Given the description of an element on the screen output the (x, y) to click on. 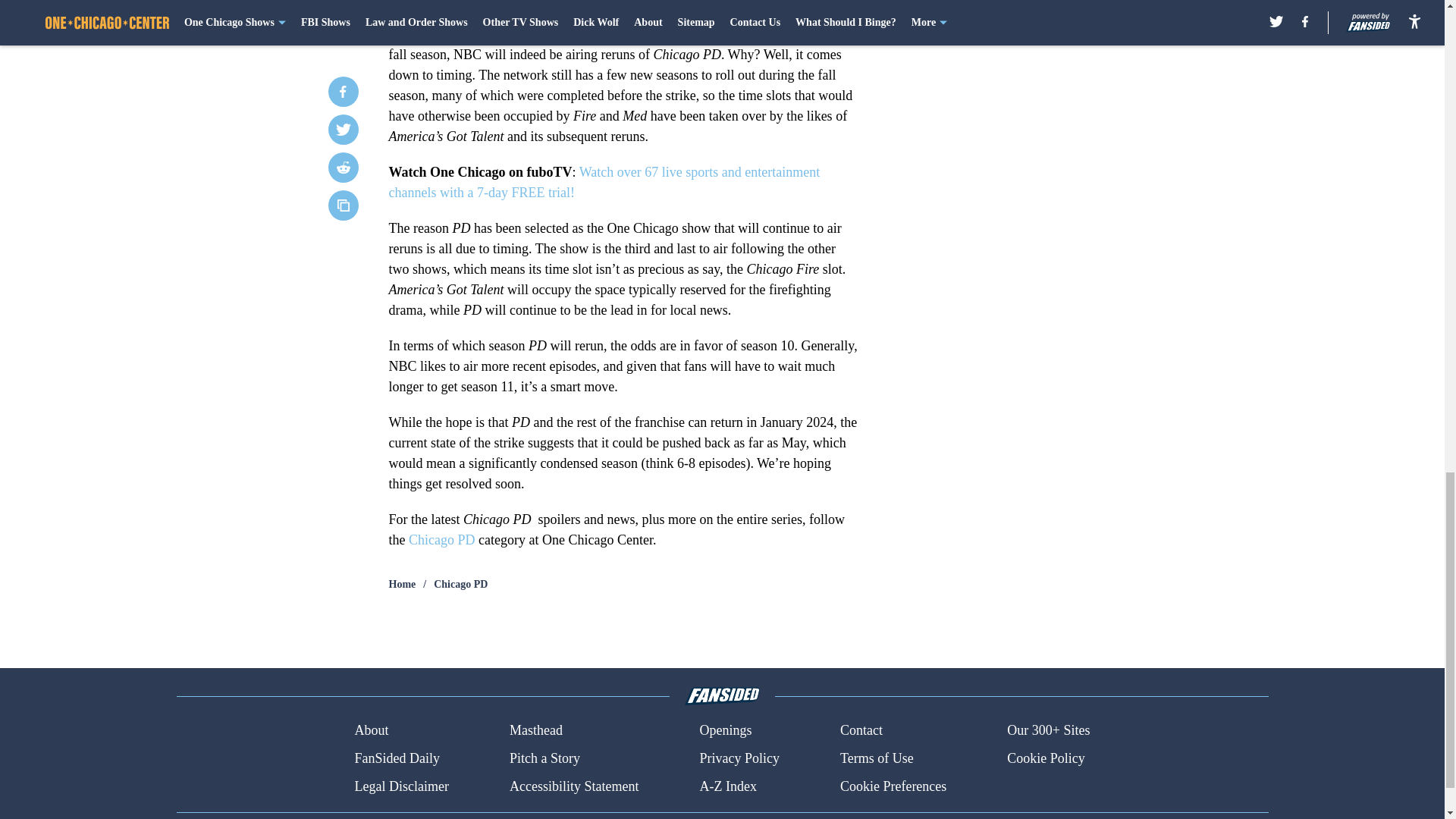
FanSided Daily (396, 758)
About (370, 730)
Openings (724, 730)
Chicago PD (442, 539)
Privacy Policy (738, 758)
Contact (861, 730)
Chicago PD (460, 584)
Masthead (535, 730)
Pitch a Story (544, 758)
Home (401, 584)
